Given the description of an element on the screen output the (x, y) to click on. 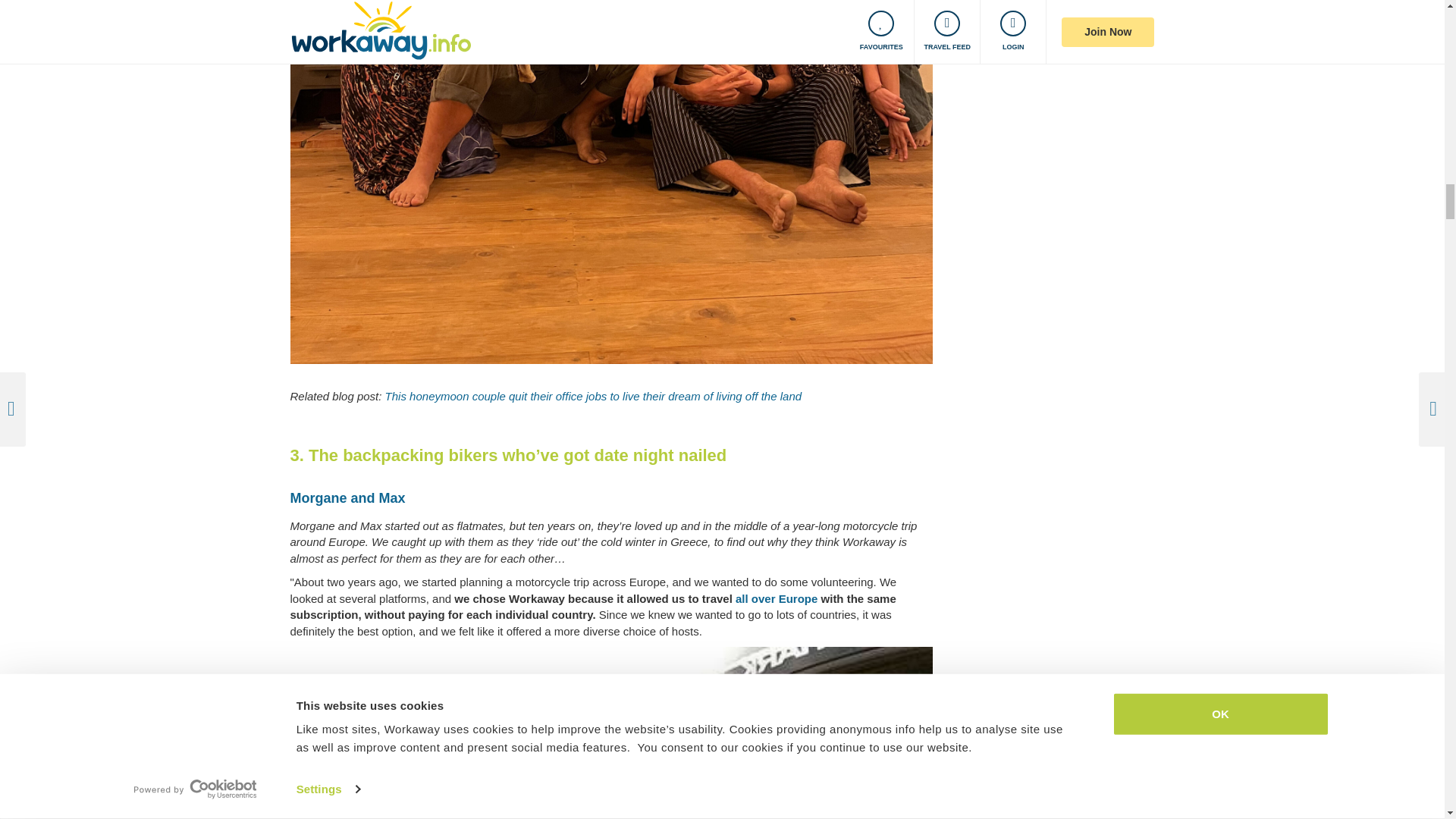
motorbike-adventure-couple (611, 733)
